Given the description of an element on the screen output the (x, y) to click on. 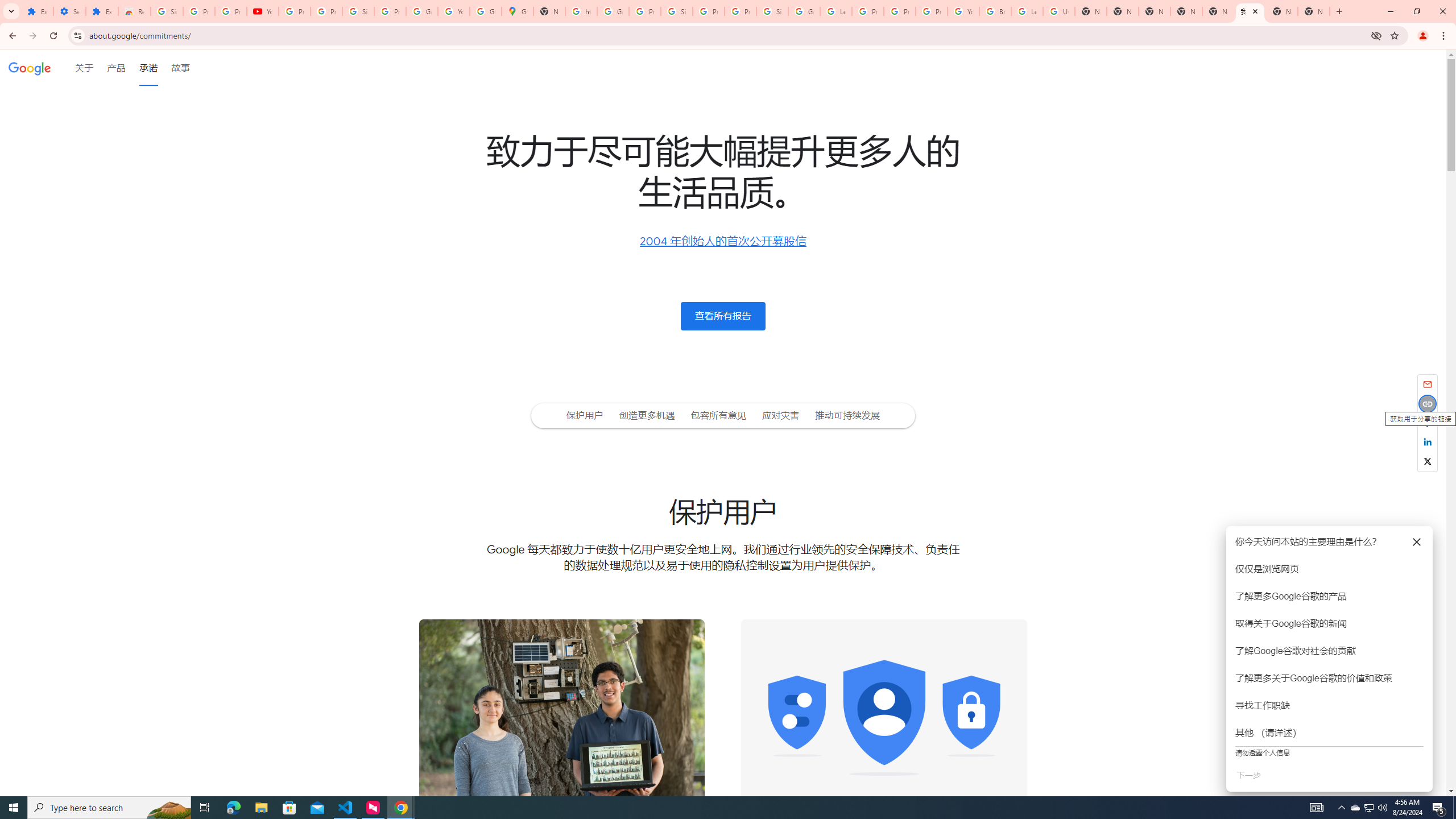
New Tab (1154, 11)
Reviews: Helix Fruit Jump Arcade Game (134, 11)
